Given the description of an element on the screen output the (x, y) to click on. 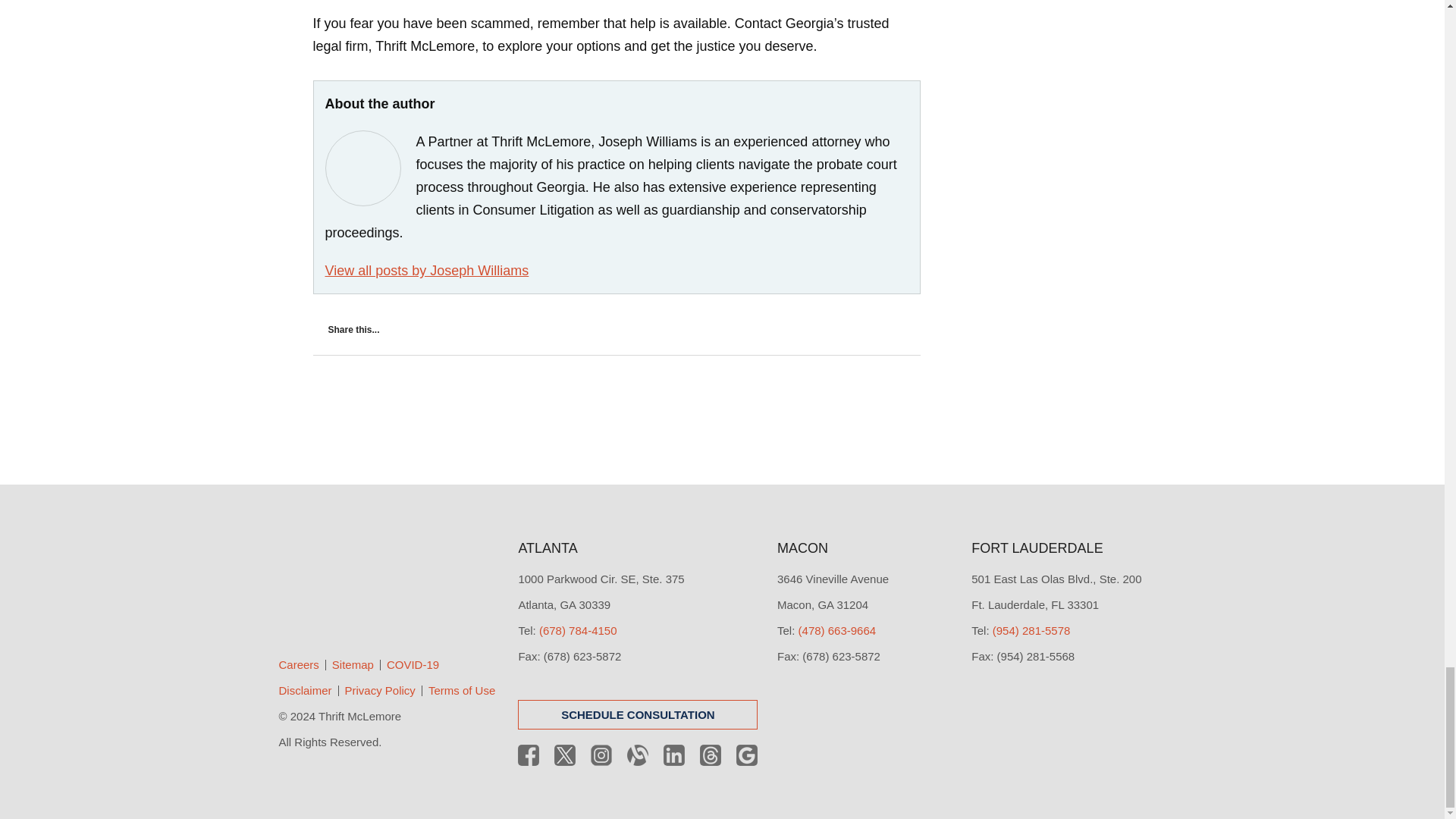
linkedin (452, 353)
twitter (415, 353)
facebook (344, 353)
pinterest (381, 353)
